Given the description of an element on the screen output the (x, y) to click on. 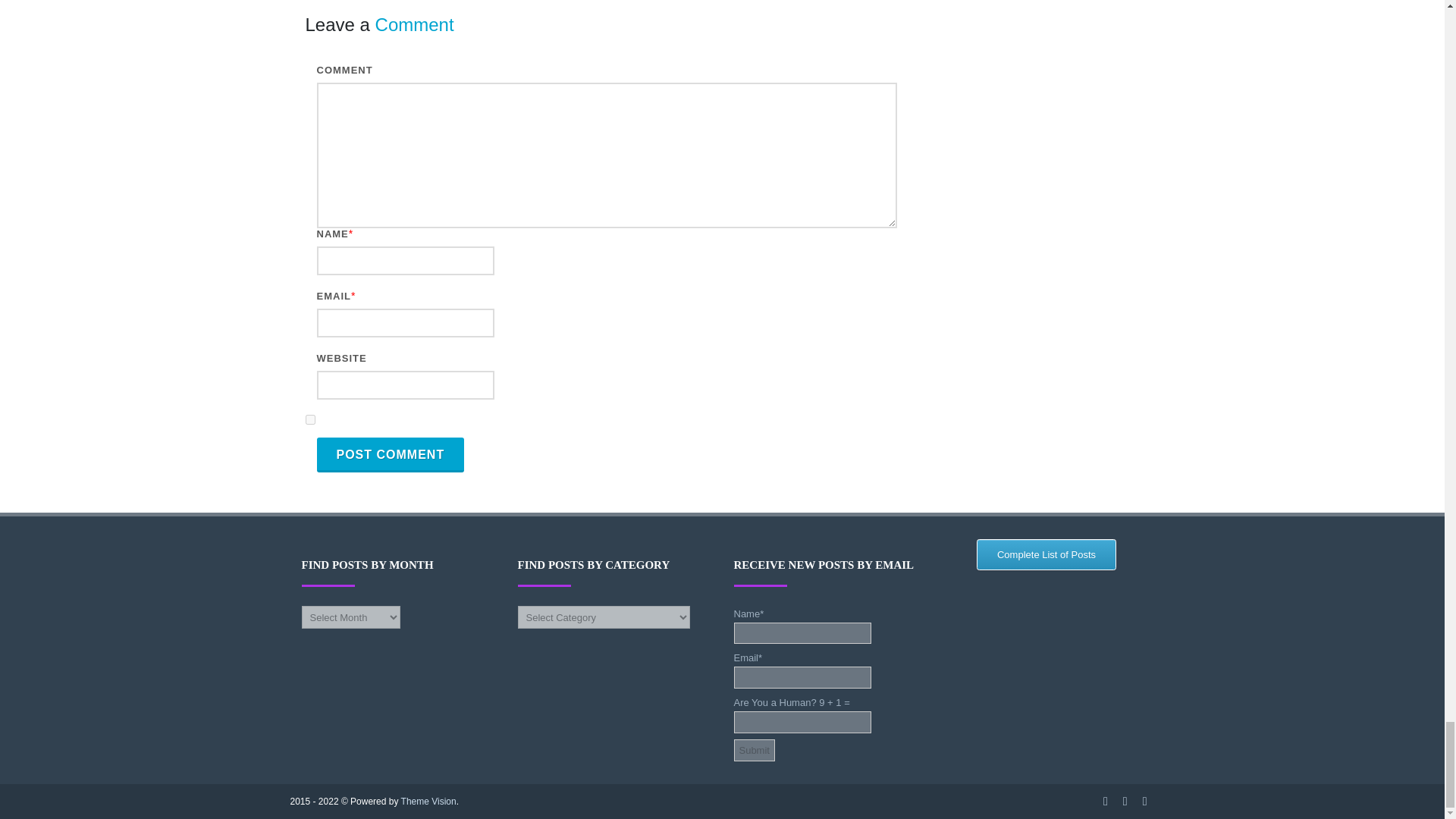
yes (309, 419)
Post Comment (390, 454)
Submit (753, 750)
